Given the description of an element on the screen output the (x, y) to click on. 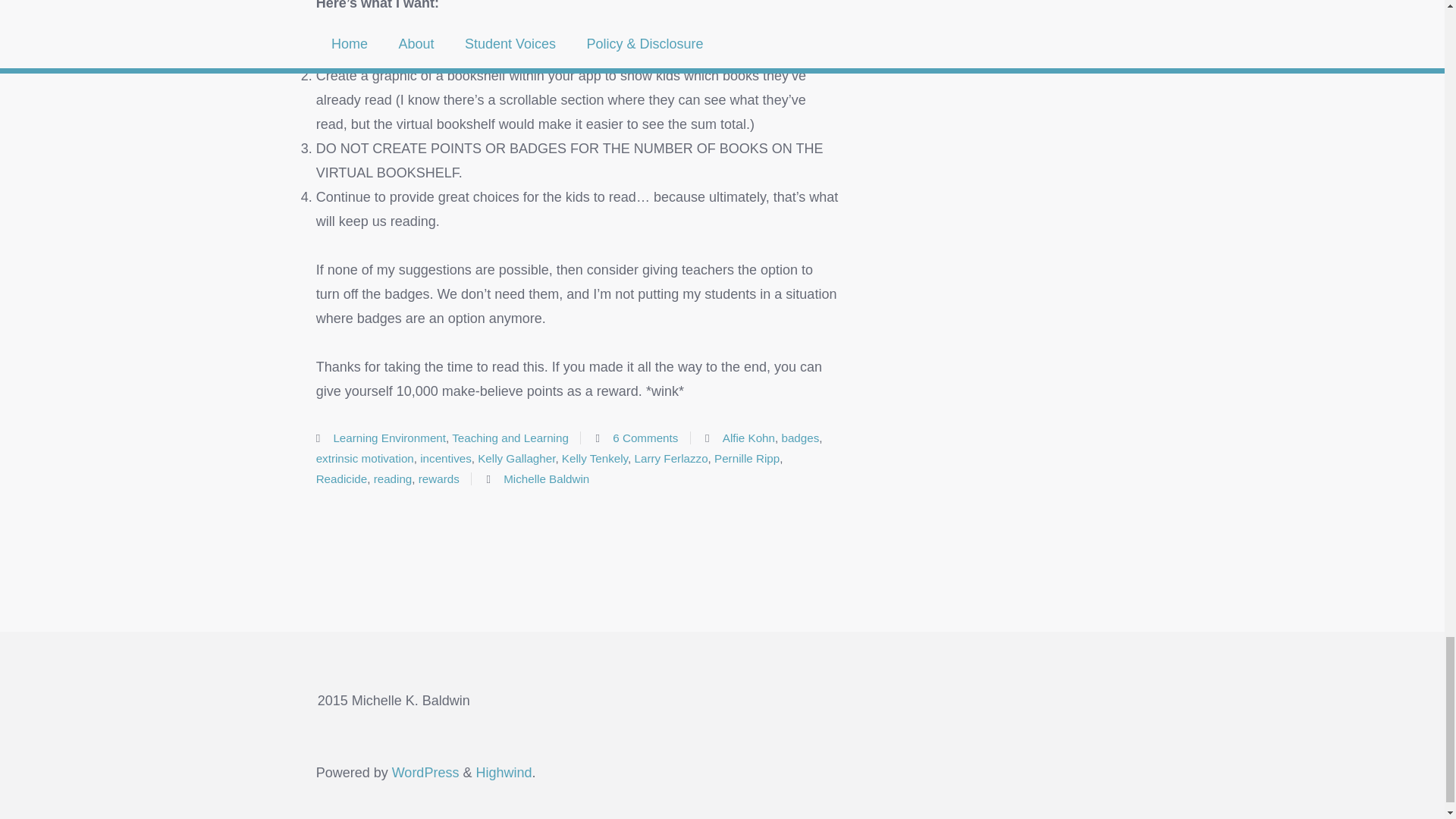
6 Comments (645, 437)
badges (799, 437)
extrinsic motivation (364, 458)
Readicide (341, 478)
reading (393, 478)
Learning Environment (389, 437)
Teaching and Learning (510, 437)
Posts by Michelle Baldwin (546, 478)
Kelly Gallagher (515, 458)
WordPress.org (425, 772)
